Given the description of an element on the screen output the (x, y) to click on. 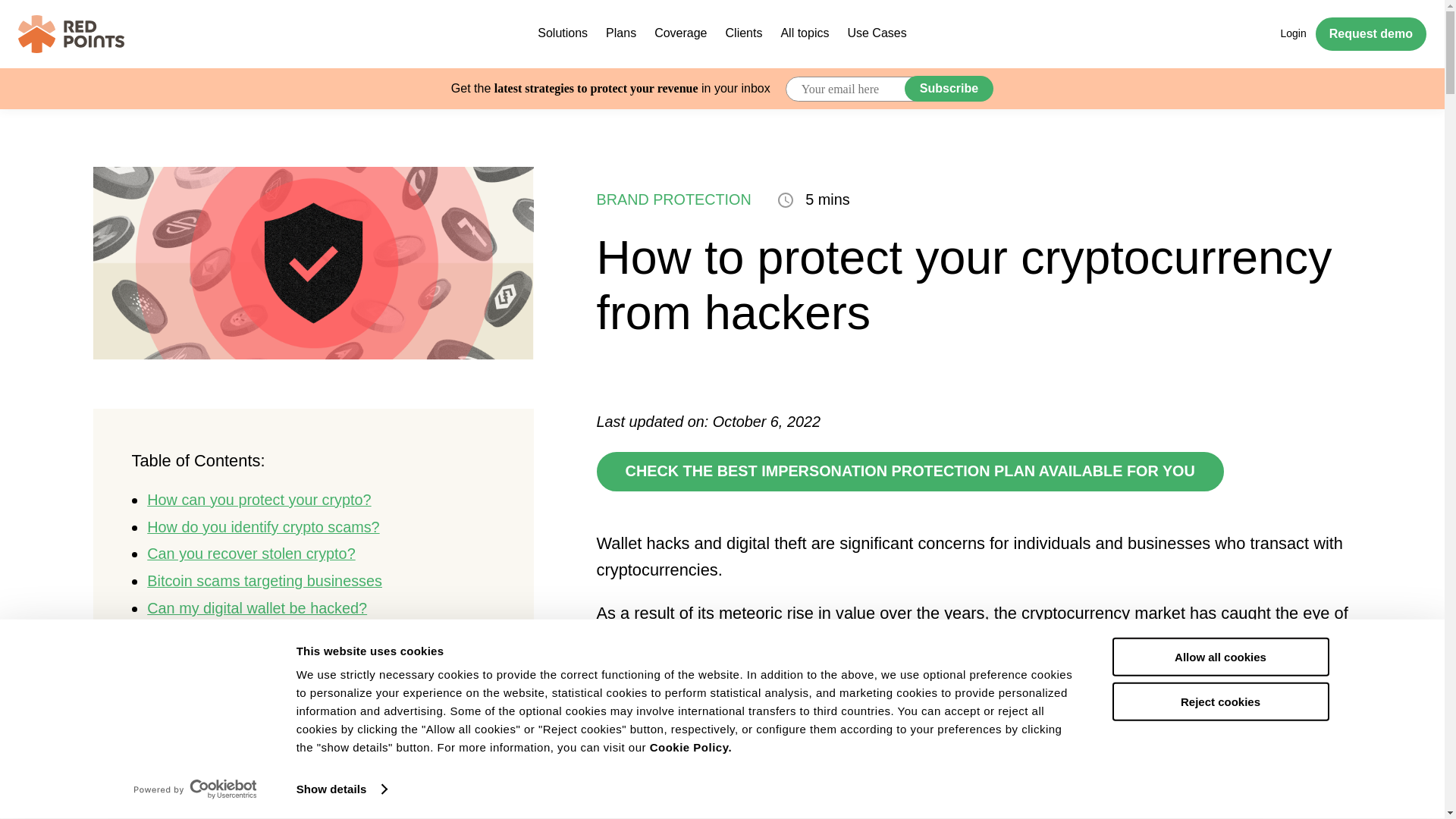
Cookie Policy. (690, 747)
Subscribe (948, 88)
Show details (341, 789)
